Given the description of an element on the screen output the (x, y) to click on. 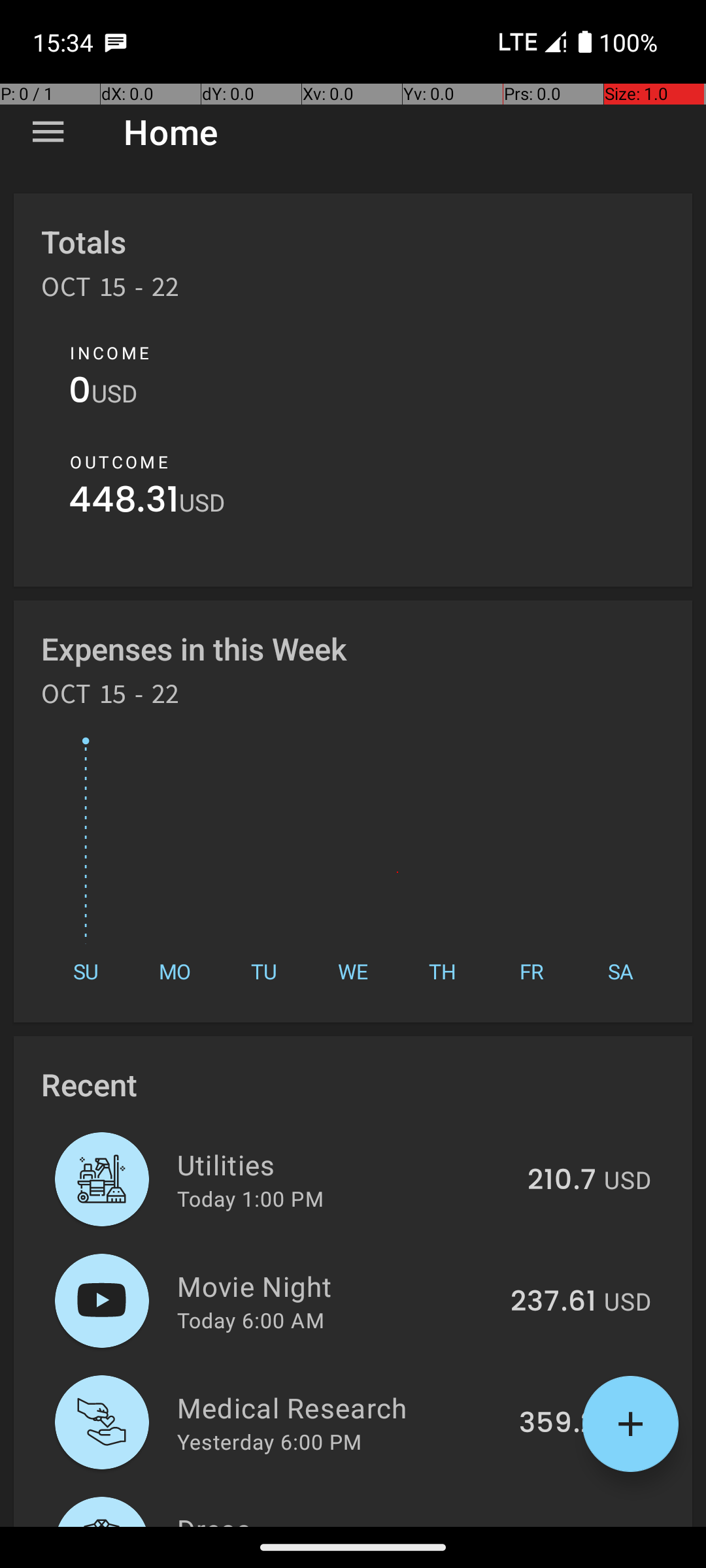
448.31 Element type: android.widget.TextView (123, 502)
Utilities Element type: android.widget.TextView (344, 1164)
Today 1:00 PM Element type: android.widget.TextView (250, 1198)
210.7 Element type: android.widget.TextView (561, 1180)
Movie Night Element type: android.widget.TextView (336, 1285)
Today 6:00 AM Element type: android.widget.TextView (250, 1320)
237.61 Element type: android.widget.TextView (552, 1301)
Medical Research Element type: android.widget.TextView (340, 1407)
Yesterday 6:00 PM Element type: android.widget.TextView (269, 1441)
359.2 Element type: android.widget.TextView (557, 1423)
Dress Element type: android.widget.TextView (335, 1518)
321.86 Element type: android.widget.TextView (551, 1524)
